Given the description of an element on the screen output the (x, y) to click on. 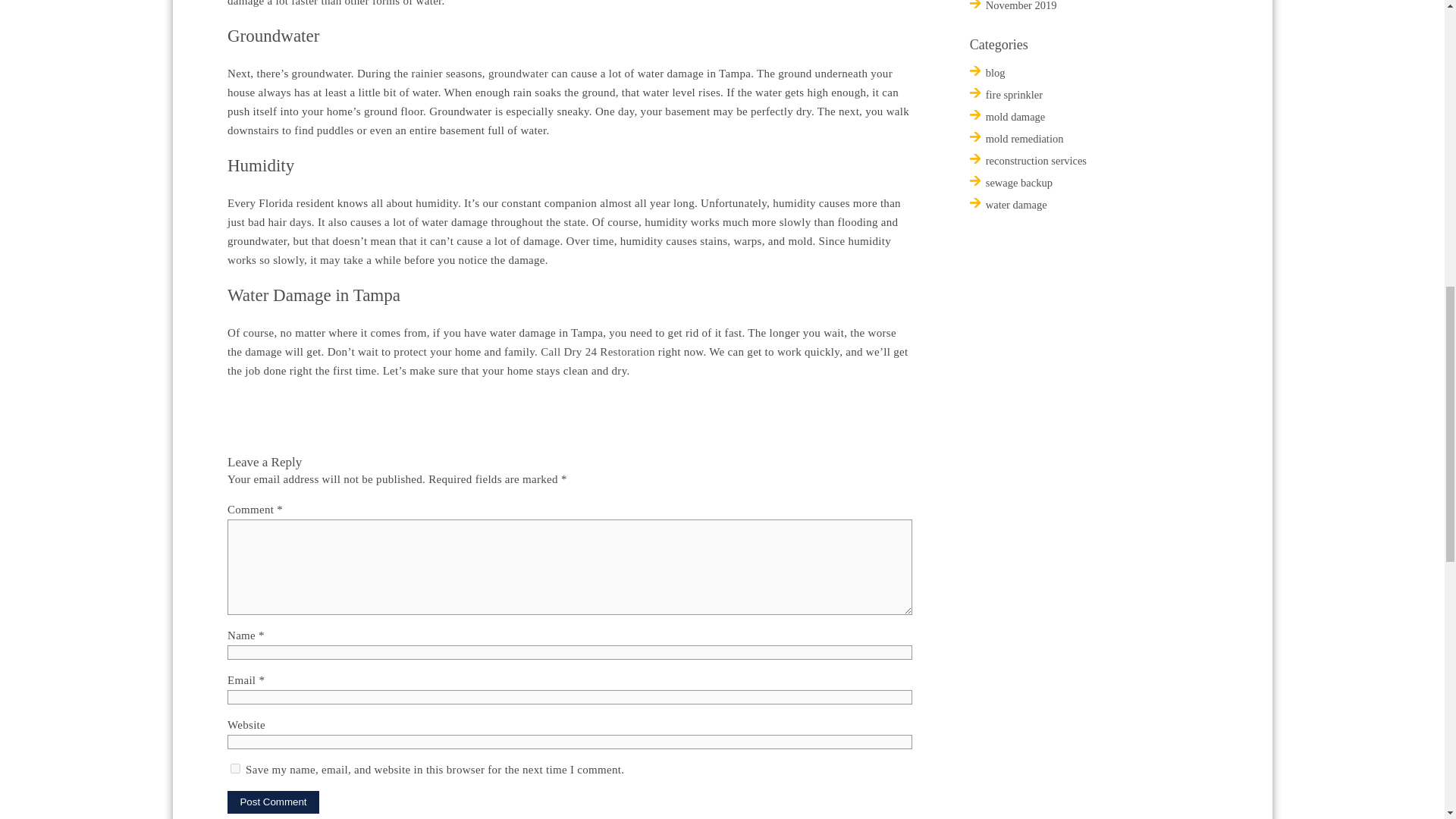
Call Dry 24 Restoration (597, 351)
Post Comment (272, 802)
Post Comment (272, 802)
yes (235, 768)
groundwater (517, 73)
